Given the description of an element on the screen output the (x, y) to click on. 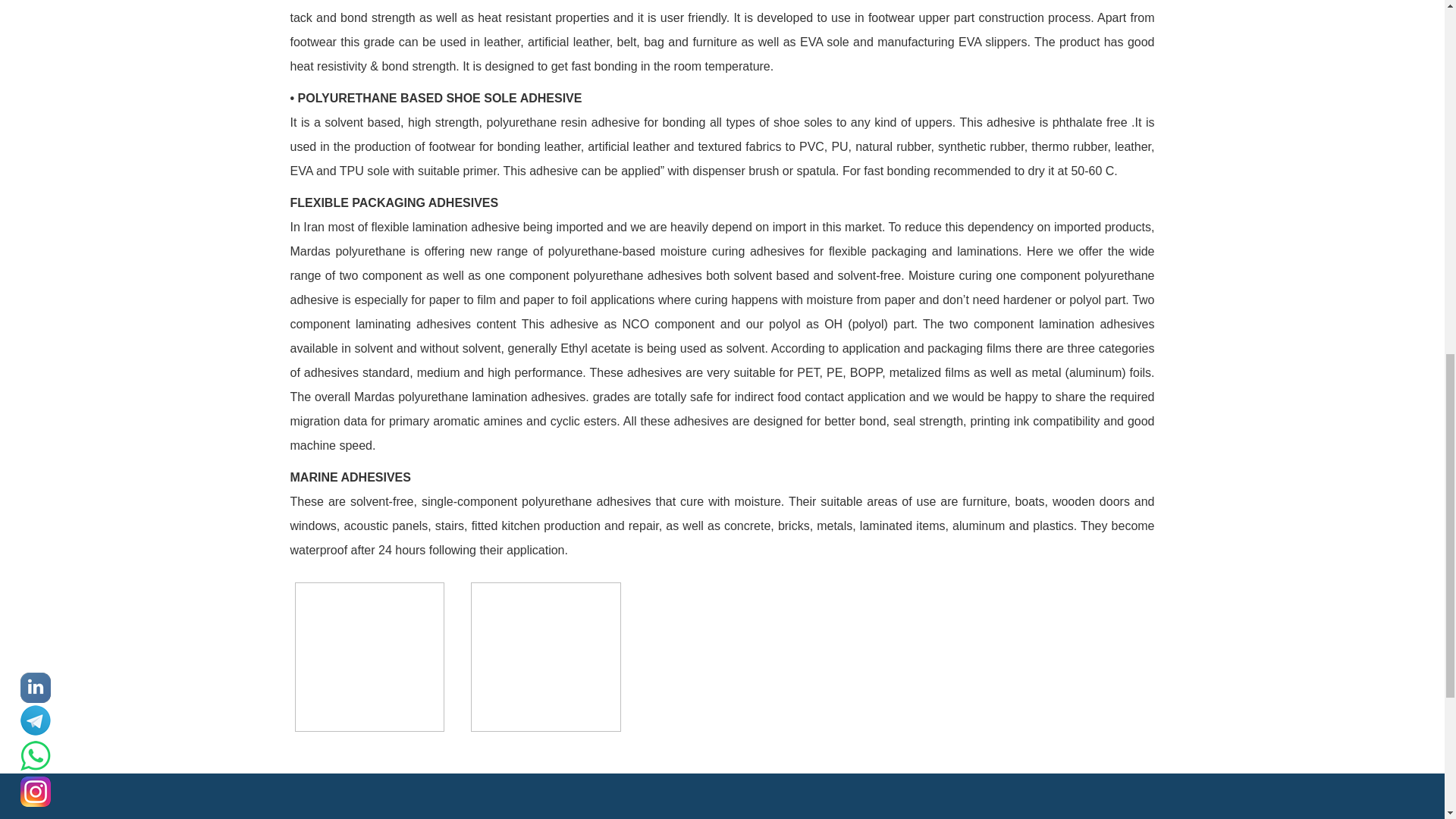
ahesives (545, 657)
